Given the description of an element on the screen output the (x, y) to click on. 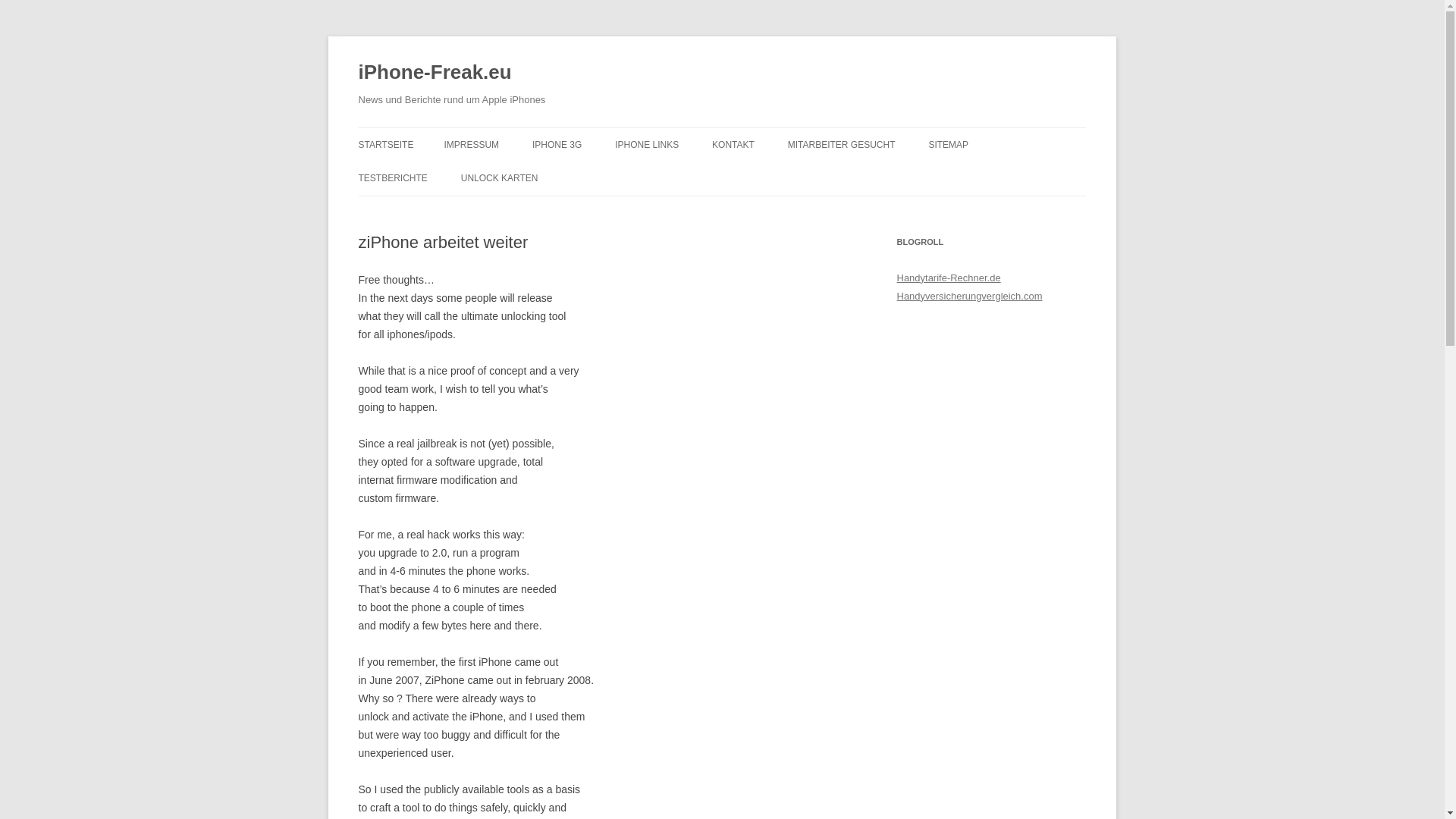
SITEMAP (948, 144)
IMPRESSUM (471, 144)
Handytarife-Rechner.de (948, 277)
Handyversicherungvergleich.com (969, 296)
UNLOCK KARTEN (499, 177)
STARTSEITE (385, 144)
Handyversicherungen (969, 296)
TESTBERICHTE (392, 177)
IPHONE LINKS (646, 144)
IPHONE 3G (556, 144)
